Given the description of an element on the screen output the (x, y) to click on. 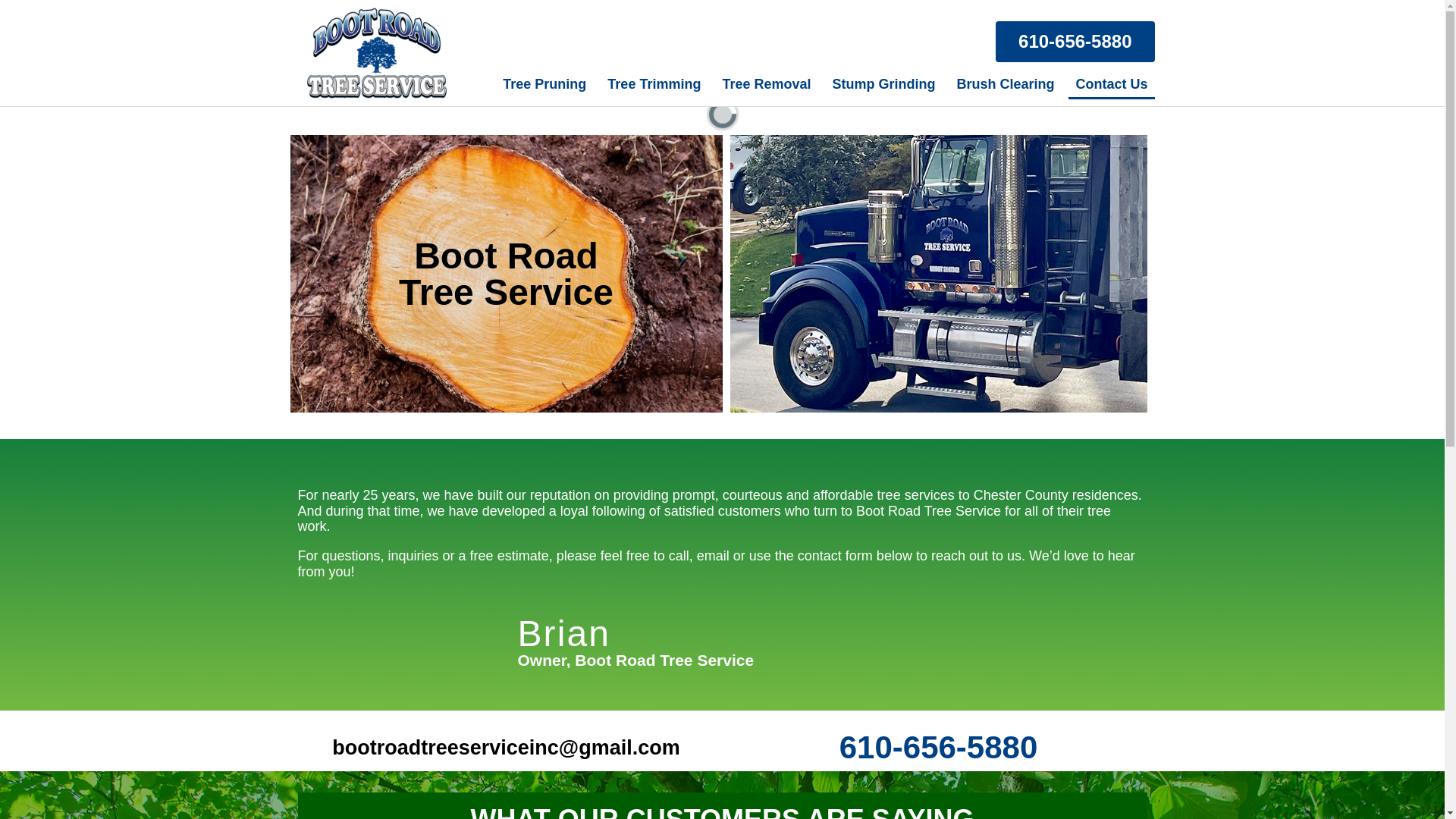
Tree Pruning (544, 83)
Contact Us (1111, 83)
610-656-5880 (1074, 41)
Tree Trimming (653, 83)
Brush Clearing (1005, 83)
Stump Grinding (883, 83)
Tree Removal (765, 83)
